Given the description of an element on the screen output the (x, y) to click on. 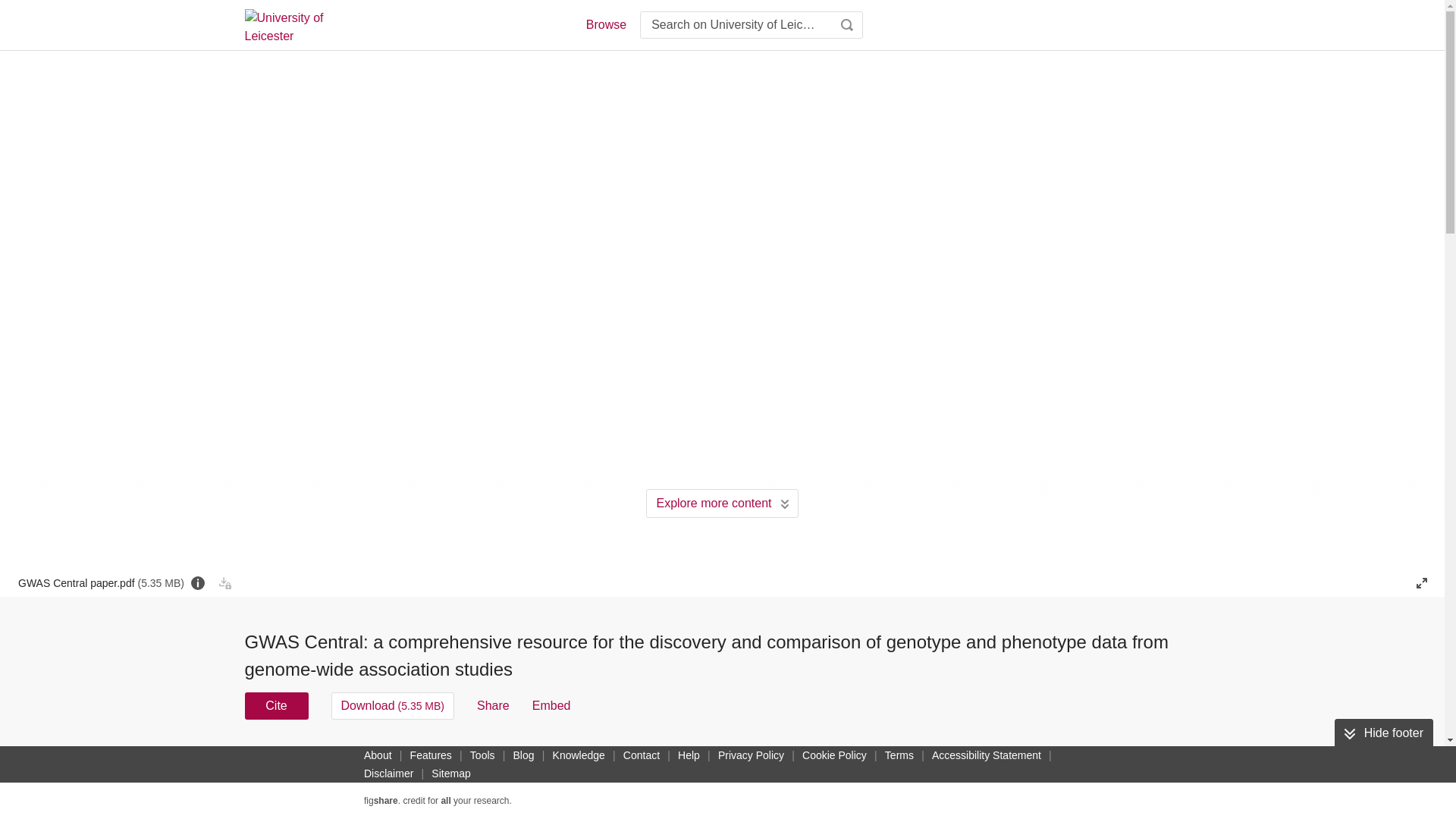
Contact (640, 755)
GWAS Central paper.pdf (100, 583)
Tools (482, 755)
USAGE METRICS (976, 759)
Help (688, 755)
Features (431, 755)
Browse (605, 24)
Privacy Policy (751, 755)
Disclaimer (388, 773)
Hide footer (1383, 733)
Blog (523, 755)
Terms (899, 755)
About (377, 755)
Embed (551, 705)
